Given the description of an element on the screen output the (x, y) to click on. 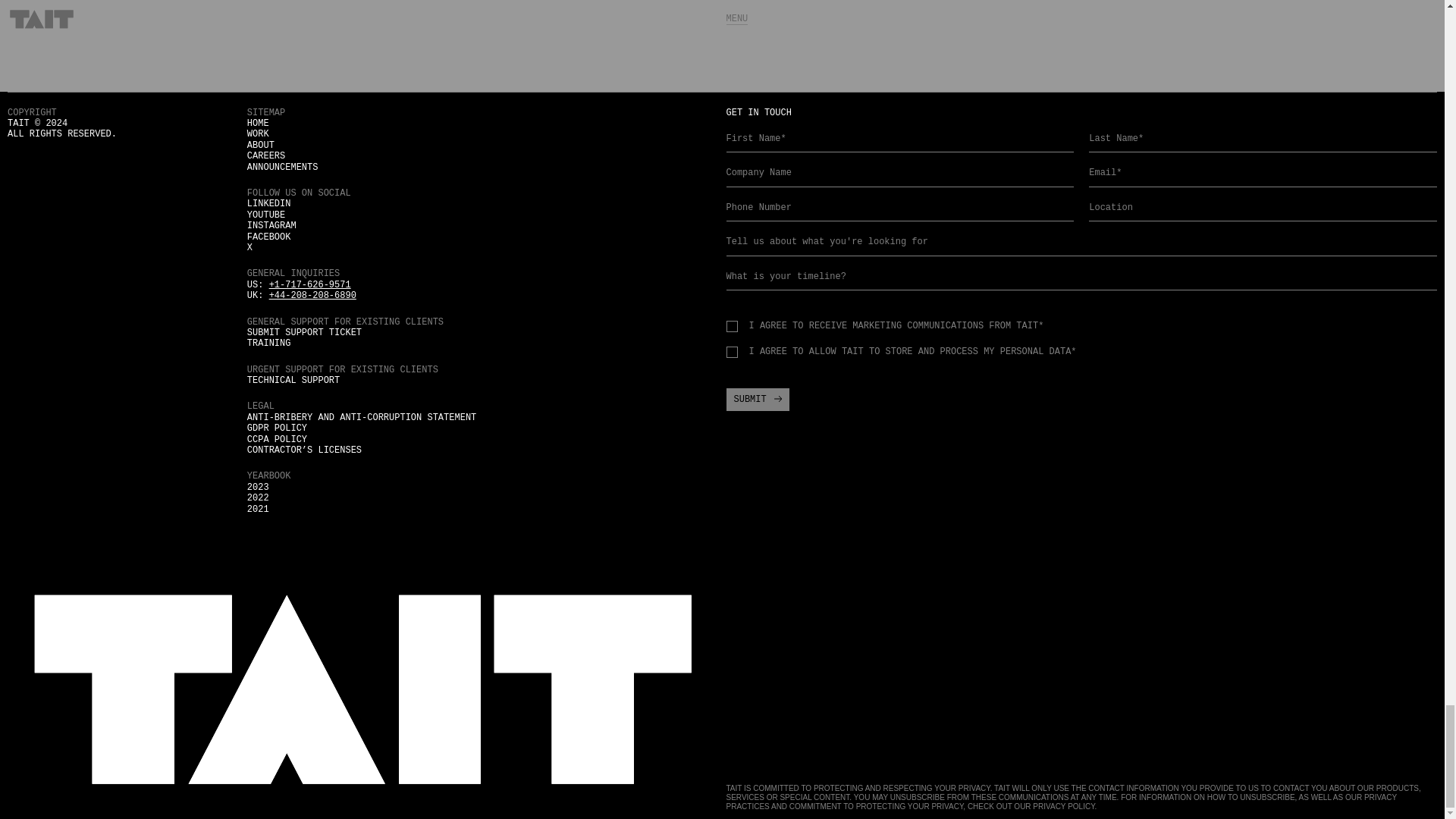
SUBMIT (757, 399)
ANTI-BRIBERY AND ANTI-CORRUPTION STATEMENT (361, 417)
INSTAGRAM (272, 225)
TRAINING (269, 343)
HOME (258, 122)
2022 (258, 498)
SUBMIT SUPPORT TICKET (304, 332)
2021 (258, 509)
2023 (258, 487)
WORK (258, 133)
CCPA POLICY (277, 439)
TECHNICAL SUPPORT (293, 380)
CAREERS (266, 155)
ANNOUNCEMENTS (282, 167)
GDPR POLICY (277, 428)
